Given the description of an element on the screen output the (x, y) to click on. 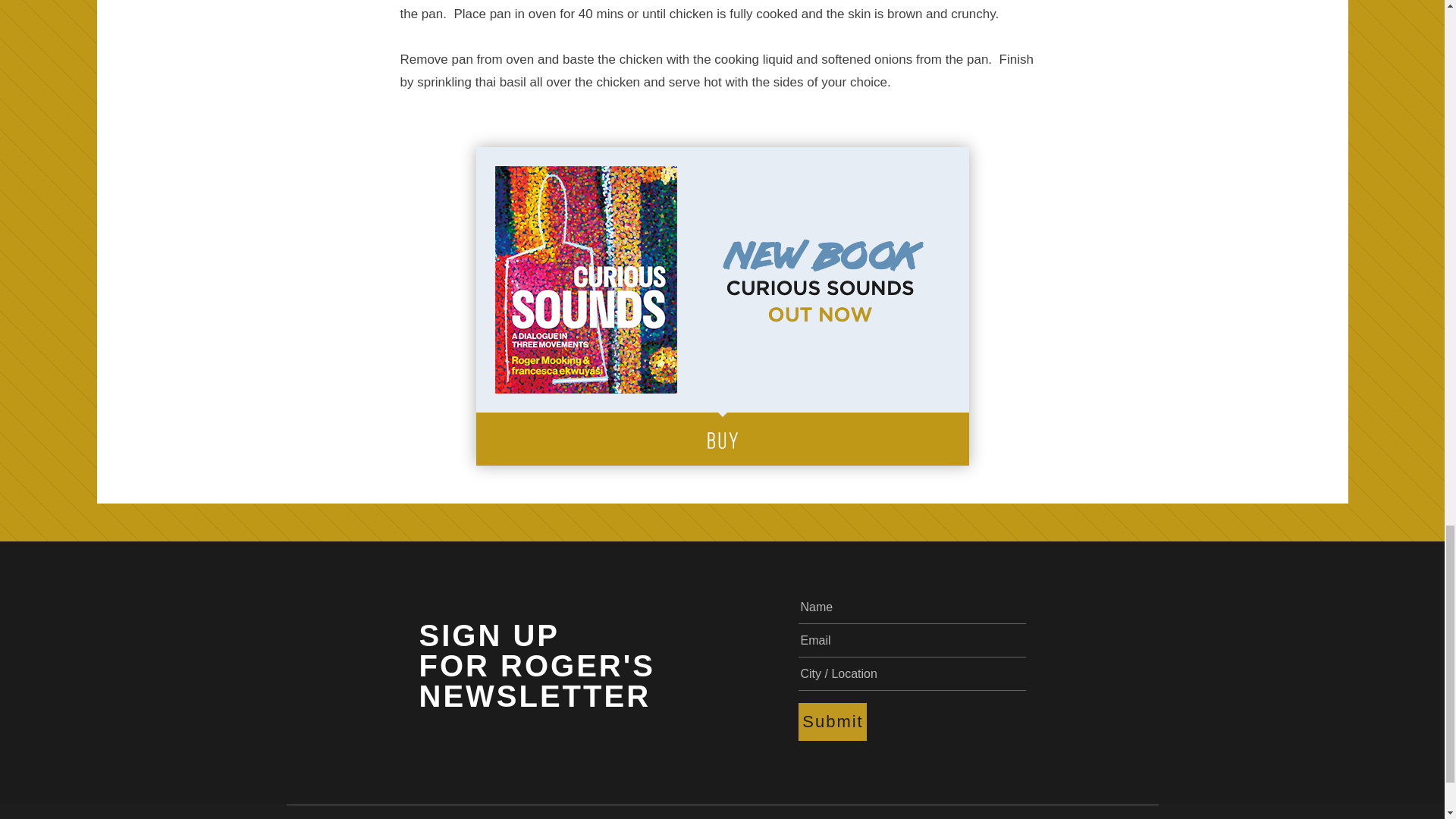
Submit (831, 721)
Submit (831, 721)
